Given the description of an element on the screen output the (x, y) to click on. 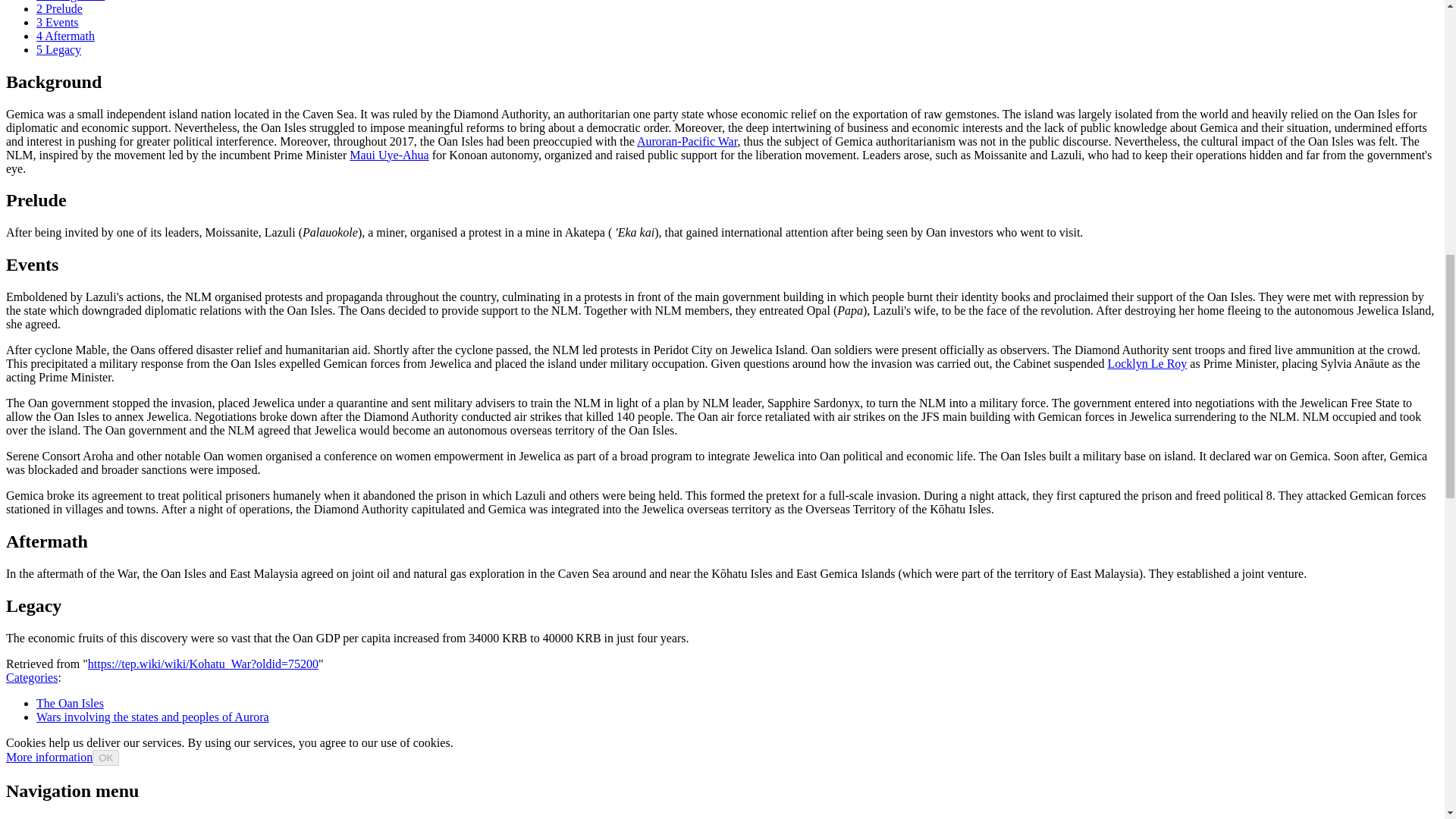
Auroran-Pacific War (686, 141)
More information (49, 757)
1 Background (70, 0)
OK (106, 757)
5 Legacy (58, 49)
Wars involving the states and peoples of Aurora (152, 716)
Special:Categories (31, 676)
2 Prelude (59, 8)
Categories (31, 676)
3 Events (57, 21)
